Given the description of an element on the screen output the (x, y) to click on. 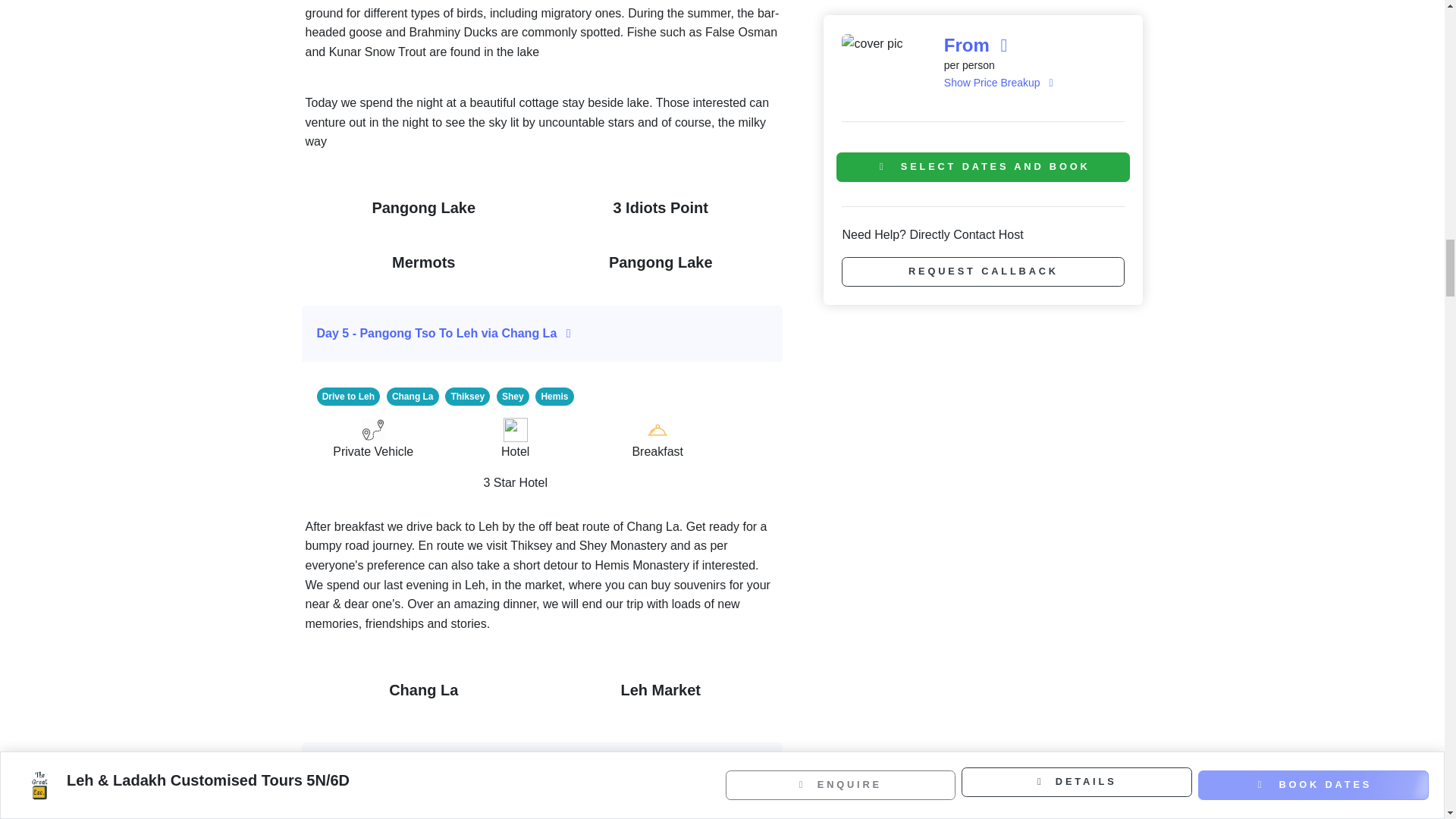
Day 5 - Pangong Tso To Leh via Chang La (542, 333)
Day 6 - Fly out of Leh (542, 770)
